Given the description of an element on the screen output the (x, y) to click on. 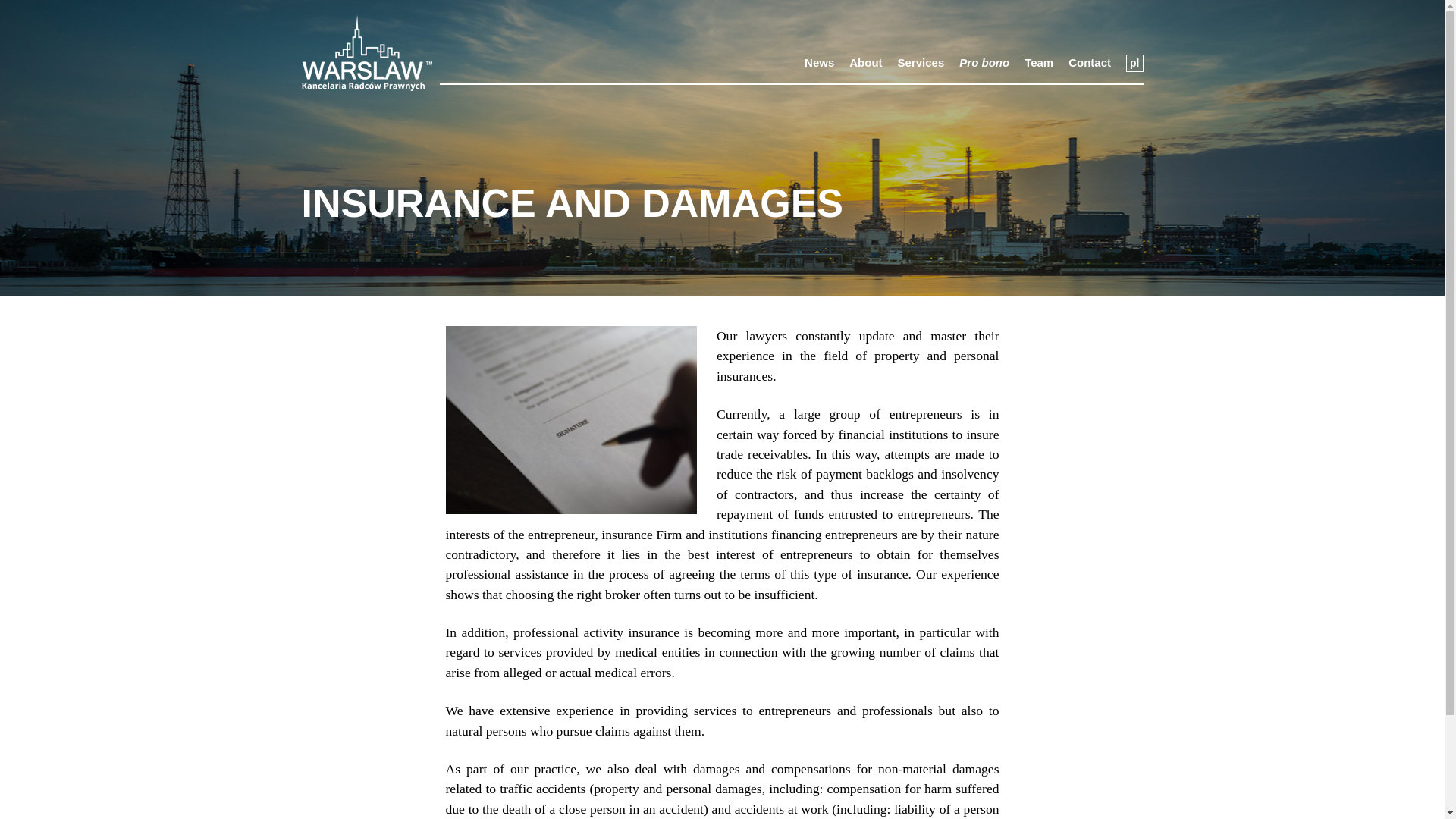
About (865, 63)
About (865, 63)
Pro bono (984, 63)
News (819, 63)
Services (921, 63)
Contact (1089, 63)
Team (1038, 63)
Services (921, 63)
Contact (1089, 63)
pl (1133, 63)
